Given the description of an element on the screen output the (x, y) to click on. 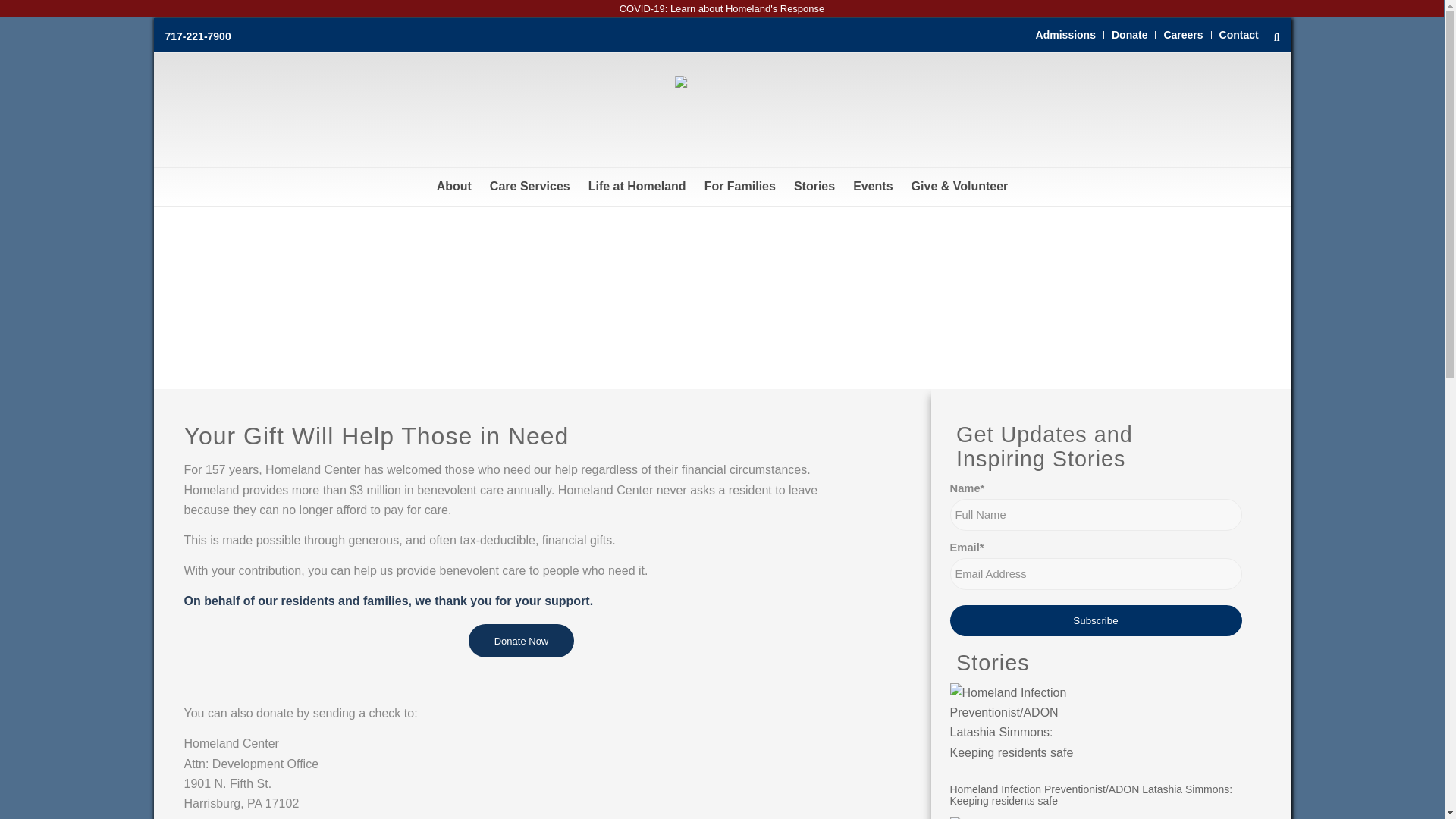
Careers (1182, 34)
About (454, 186)
Contact (1239, 34)
COVID-19: Learn about Homeland's Response (721, 9)
717-221-7900 (198, 36)
For Families (739, 186)
Admissions (1065, 34)
Donate (1129, 34)
Life at Homeland (637, 186)
Subscribe (1095, 620)
